Given the description of an element on the screen output the (x, y) to click on. 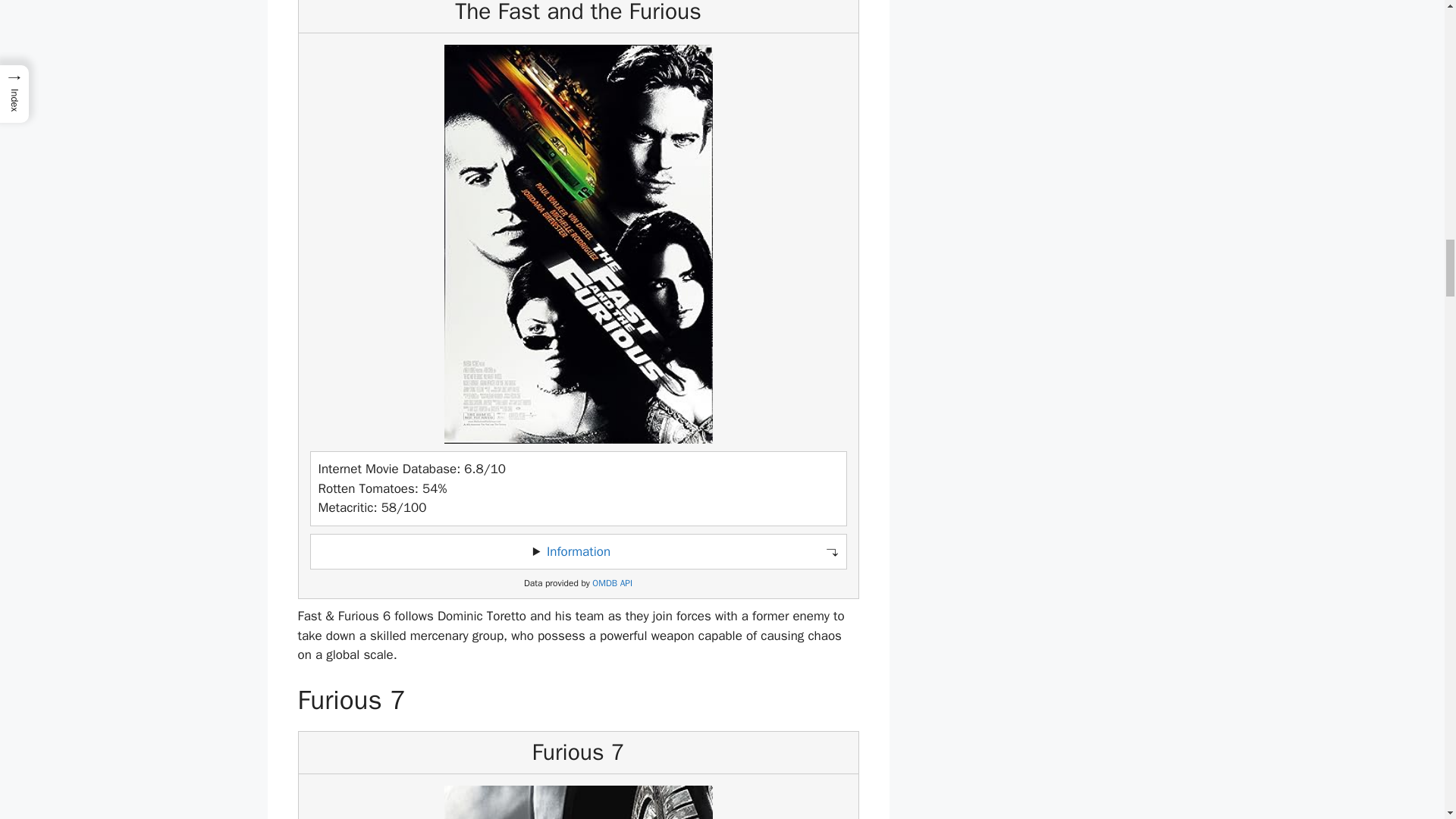
Information (578, 551)
OMDB API (611, 583)
Toggle information (578, 551)
Open Movie Database API (611, 583)
